Given the description of an element on the screen output the (x, y) to click on. 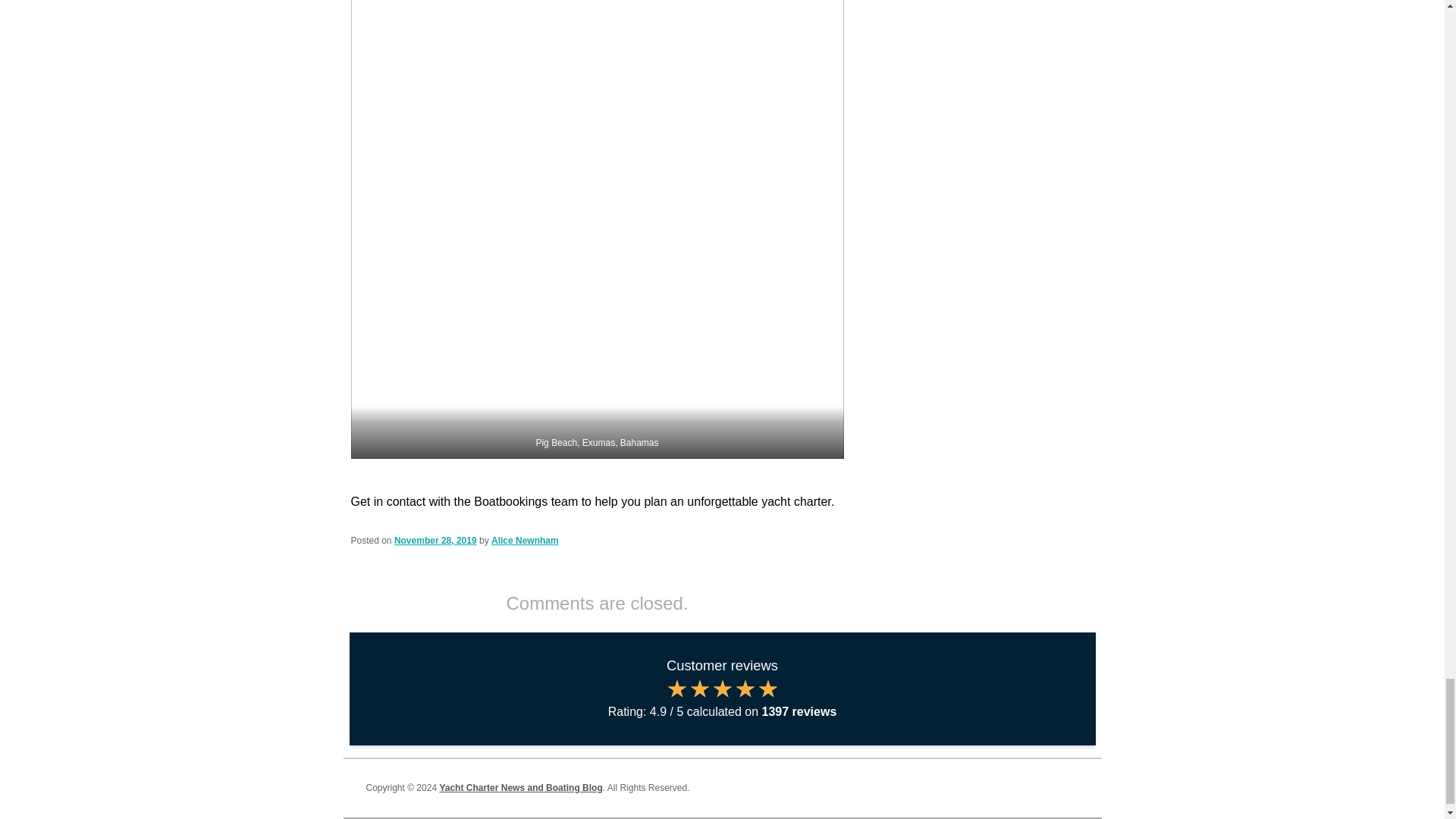
November 28, 2019 (435, 540)
Boatbookings reviews (722, 697)
View all posts by Alice Newnham (525, 540)
Yacht Charter News and Boating Blog (520, 787)
7:31 pm (435, 540)
Alice Newnham (525, 540)
